Given the description of an element on the screen output the (x, y) to click on. 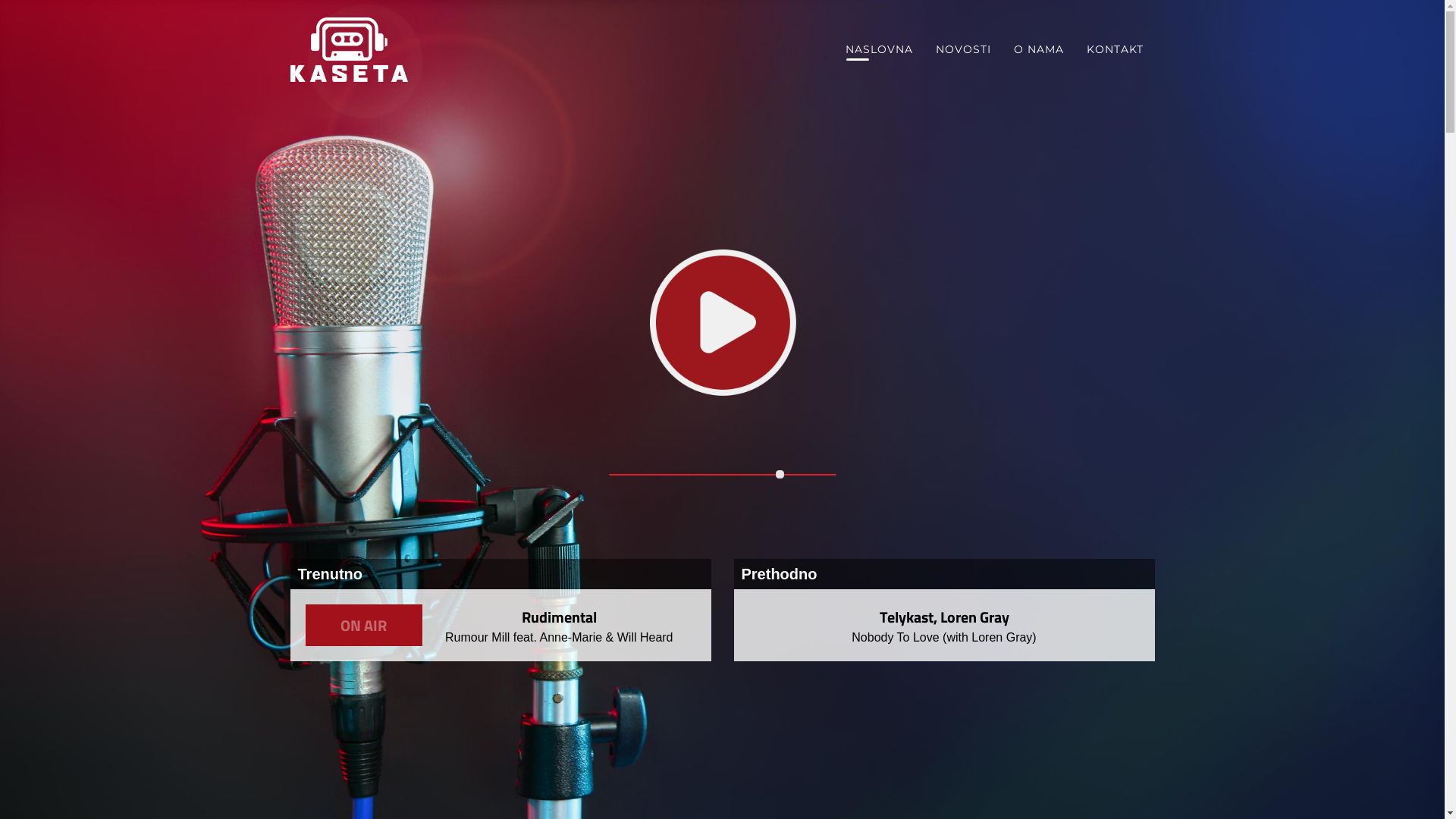
KONTAKT Element type: text (1114, 49)
O NAMA Element type: text (1038, 49)
Advertisement Element type: hover (732, 737)
NASLOVNA Element type: text (879, 49)
NOVOSTI Element type: text (962, 49)
